Given the description of an element on the screen output the (x, y) to click on. 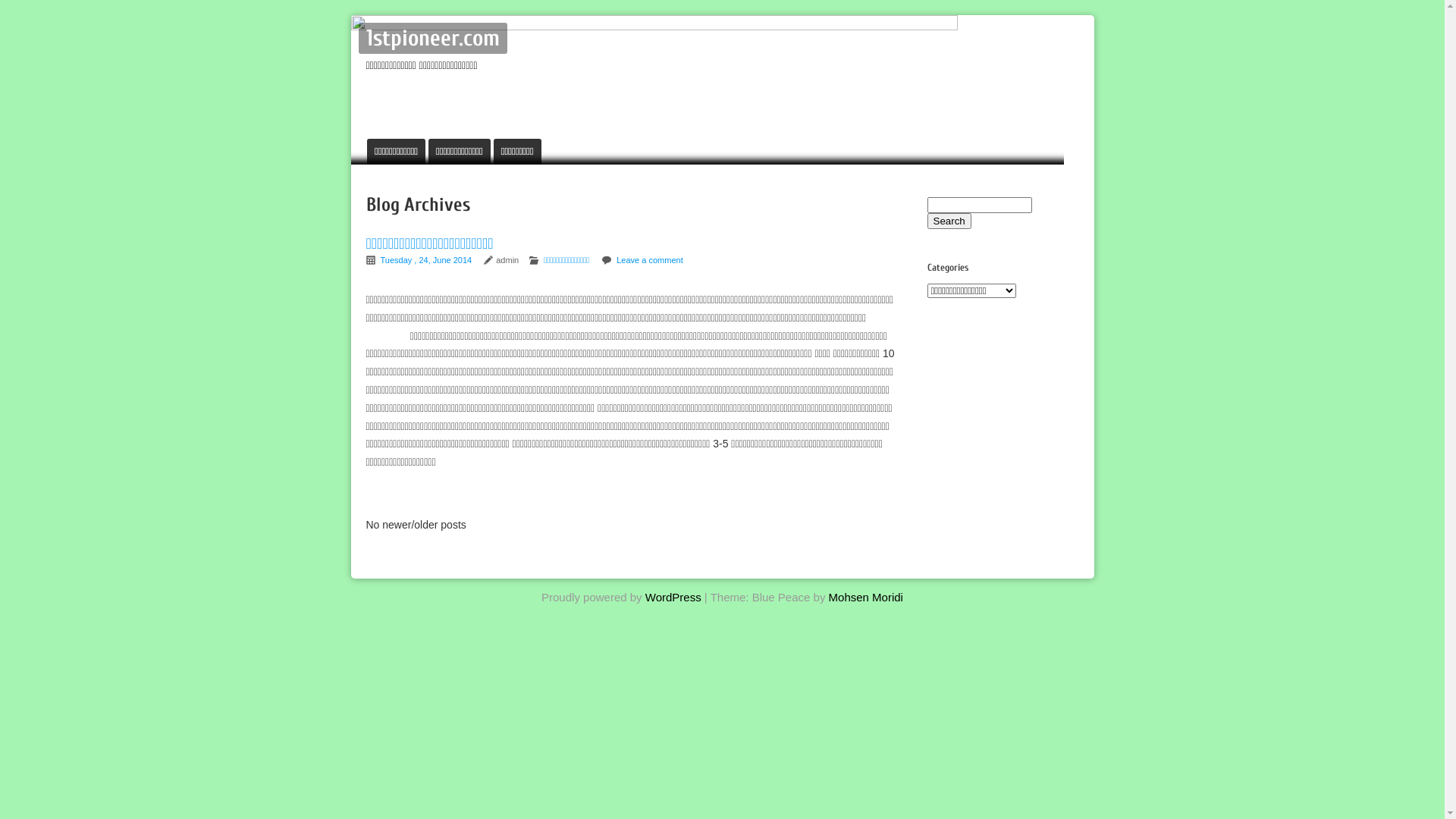
Search Element type: text (948, 221)
1stpioneer.com Element type: text (431, 37)
Leave a comment Element type: text (649, 259)
WordPress Element type: text (673, 596)
Mohsen Moridi Element type: text (865, 596)
Tuesday , 24, June 2014 Element type: text (426, 259)
